Given the description of an element on the screen output the (x, y) to click on. 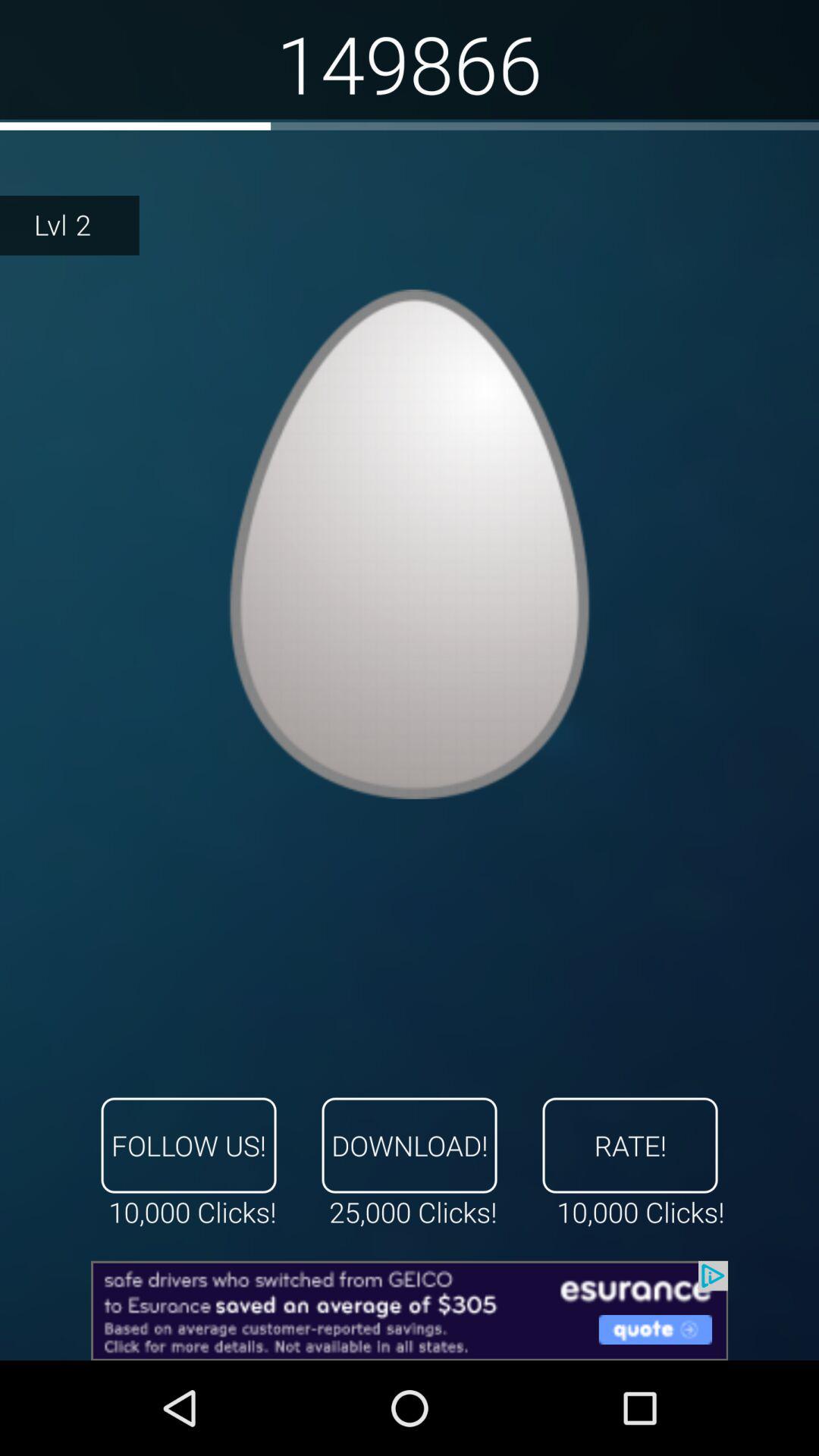
click image (409, 544)
